Given the description of an element on the screen output the (x, y) to click on. 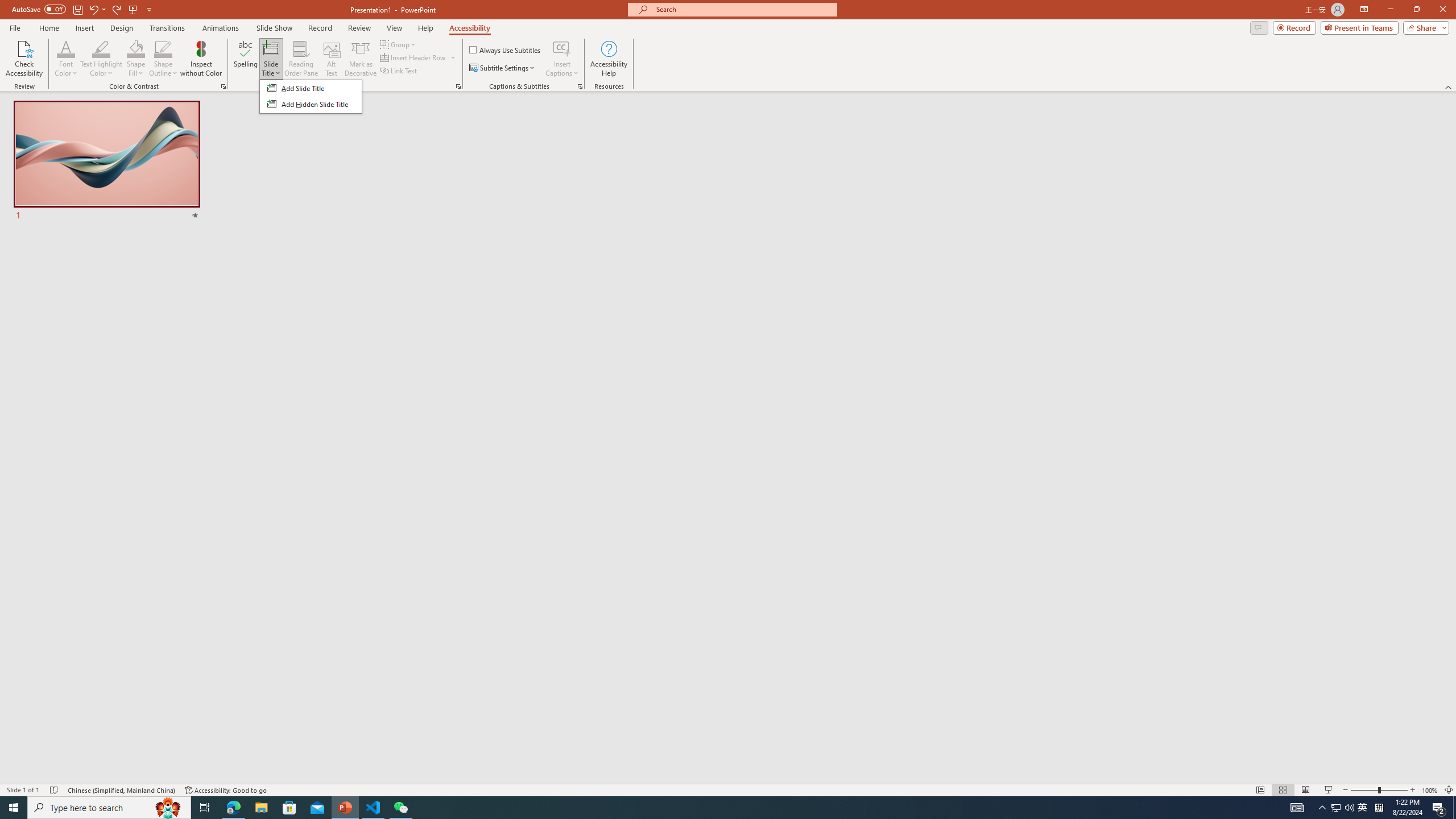
Captions & Subtitles (580, 85)
